Given the description of an element on the screen output the (x, y) to click on. 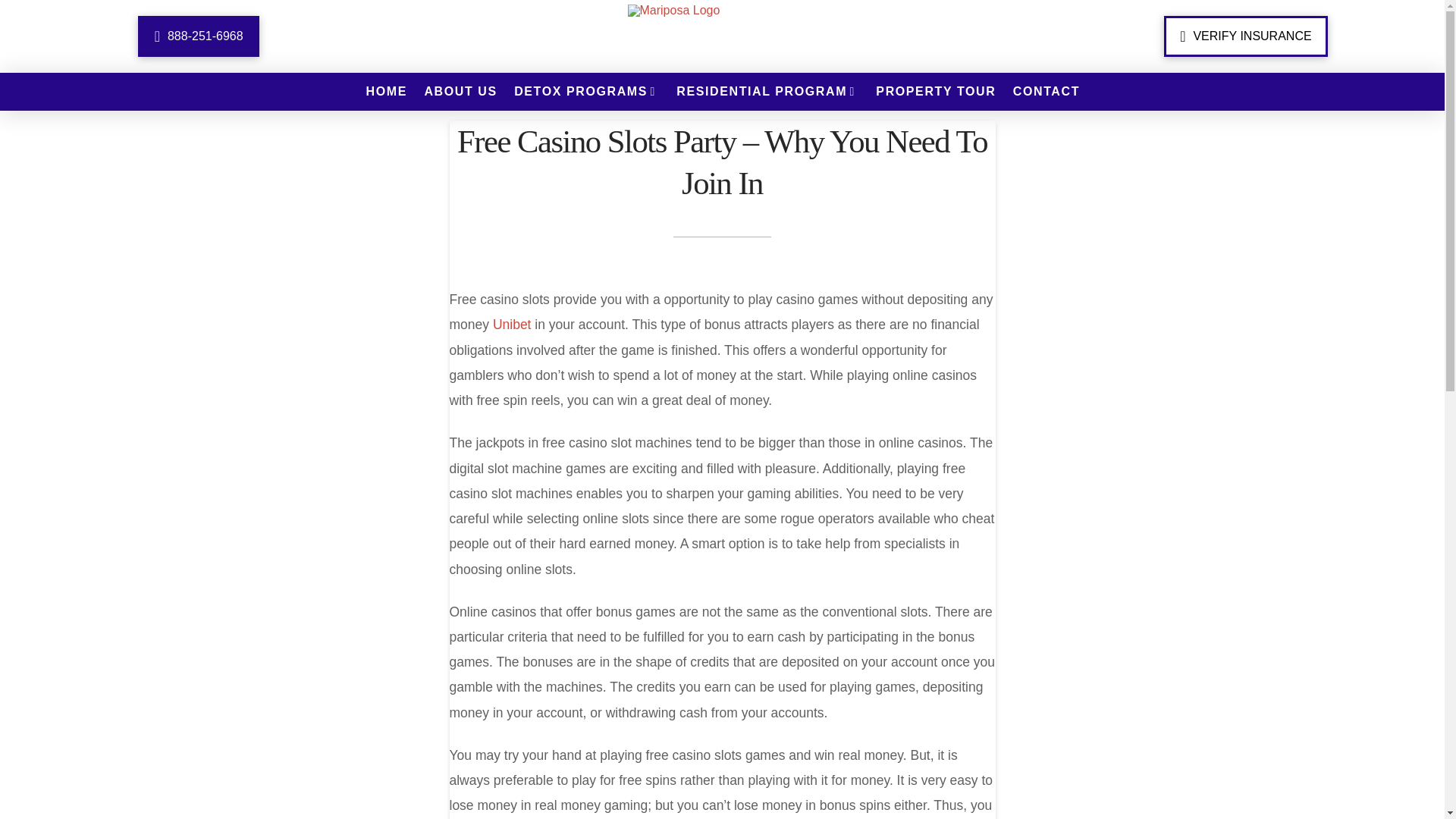
HOME (385, 91)
PROPERTY TOUR (934, 91)
CONTACT (1045, 91)
DETOX PROGRAMS (585, 91)
VERIFY INSURANCE (1245, 35)
ABOUT US (459, 91)
RESIDENTIAL PROGRAM (766, 91)
888-251-6968 (198, 35)
